Given the description of an element on the screen output the (x, y) to click on. 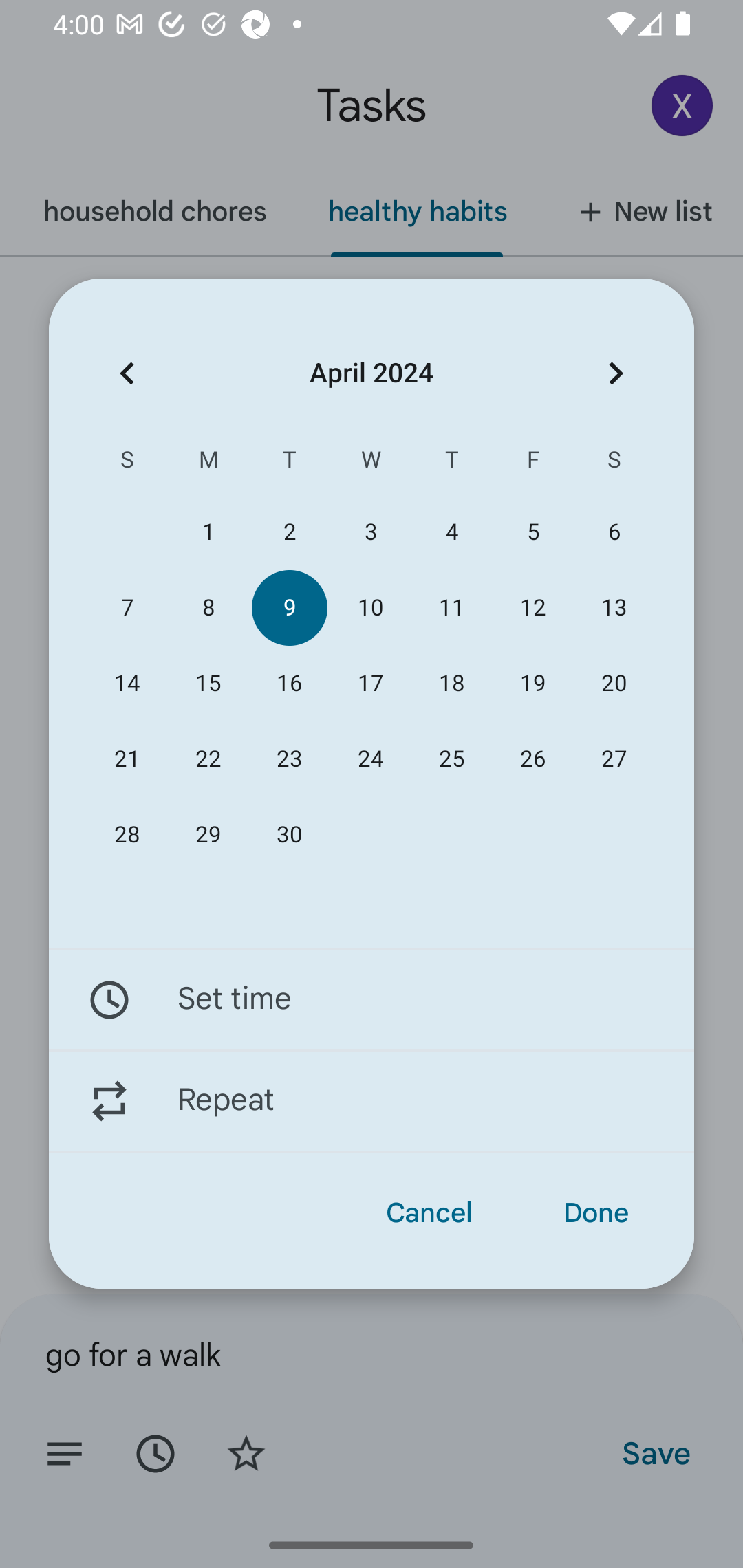
Previous month (126, 372)
Next month (615, 372)
1 01 April 2024 (207, 531)
2 02 April 2024 (288, 531)
3 03 April 2024 (370, 531)
4 04 April 2024 (451, 531)
5 05 April 2024 (532, 531)
6 06 April 2024 (613, 531)
7 07 April 2024 (126, 608)
8 08 April 2024 (207, 608)
9 09 April 2024 (288, 608)
10 10 April 2024 (370, 608)
11 11 April 2024 (451, 608)
12 12 April 2024 (532, 608)
13 13 April 2024 (613, 608)
14 14 April 2024 (126, 683)
15 15 April 2024 (207, 683)
16 16 April 2024 (288, 683)
17 17 April 2024 (370, 683)
18 18 April 2024 (451, 683)
19 19 April 2024 (532, 683)
20 20 April 2024 (613, 683)
21 21 April 2024 (126, 758)
22 22 April 2024 (207, 758)
23 23 April 2024 (288, 758)
24 24 April 2024 (370, 758)
25 25 April 2024 (451, 758)
26 26 April 2024 (532, 758)
27 27 April 2024 (613, 758)
28 28 April 2024 (126, 834)
29 29 April 2024 (207, 834)
30 30 April 2024 (288, 834)
Set time (371, 999)
Repeat (371, 1101)
Cancel (429, 1213)
Done (595, 1213)
